Given the description of an element on the screen output the (x, y) to click on. 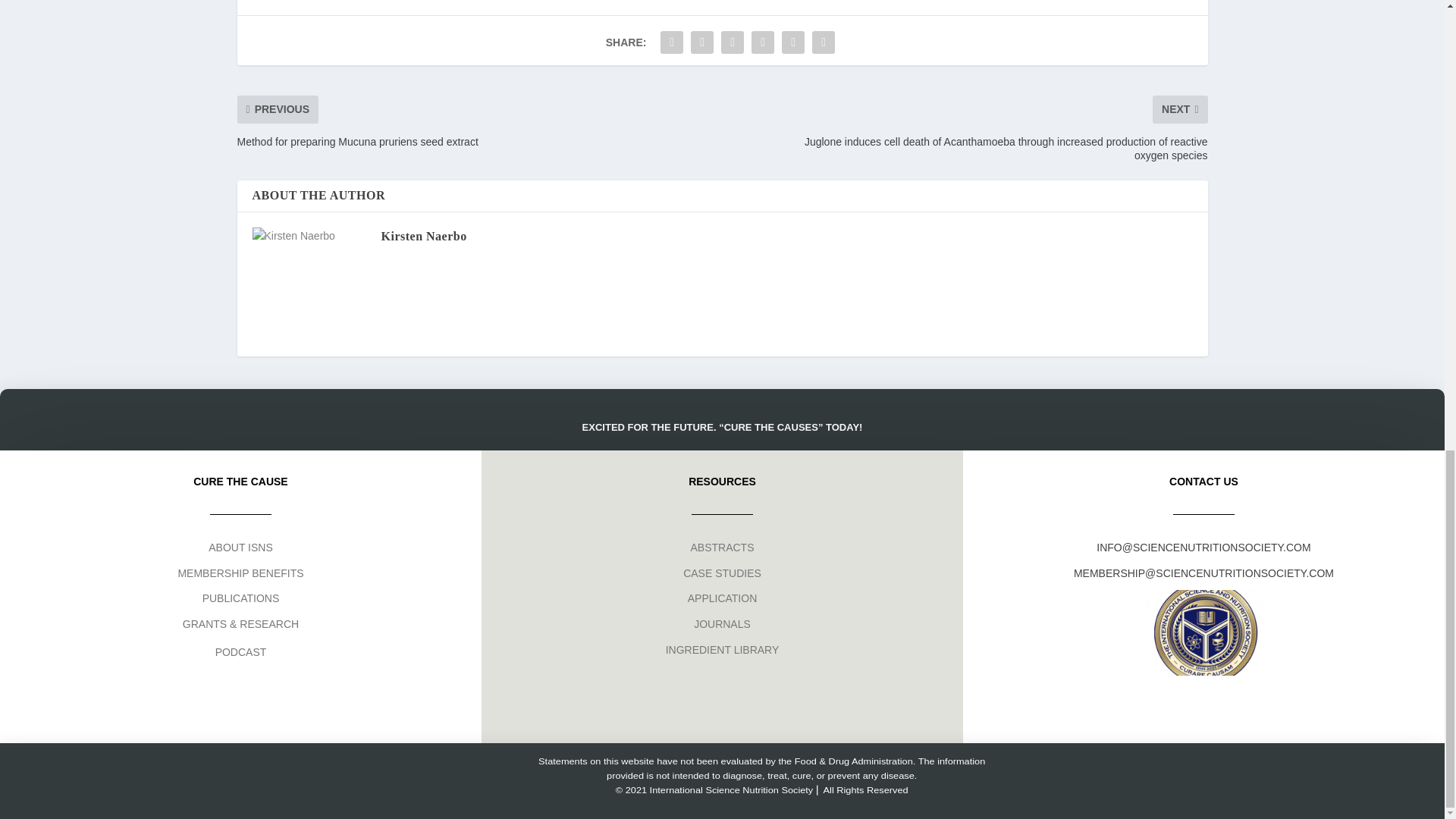
Share "Black Walnut" via Email (792, 42)
Share "Black Walnut" via Facebook (671, 42)
Share "Black Walnut" via LinkedIn (762, 42)
Share "Black Walnut" via Pinterest (732, 42)
Share "Black Walnut" via Twitter (702, 42)
View all posts by Kirsten Naerbo (422, 236)
Share "Black Walnut" via Print (823, 42)
